Given the description of an element on the screen output the (x, y) to click on. 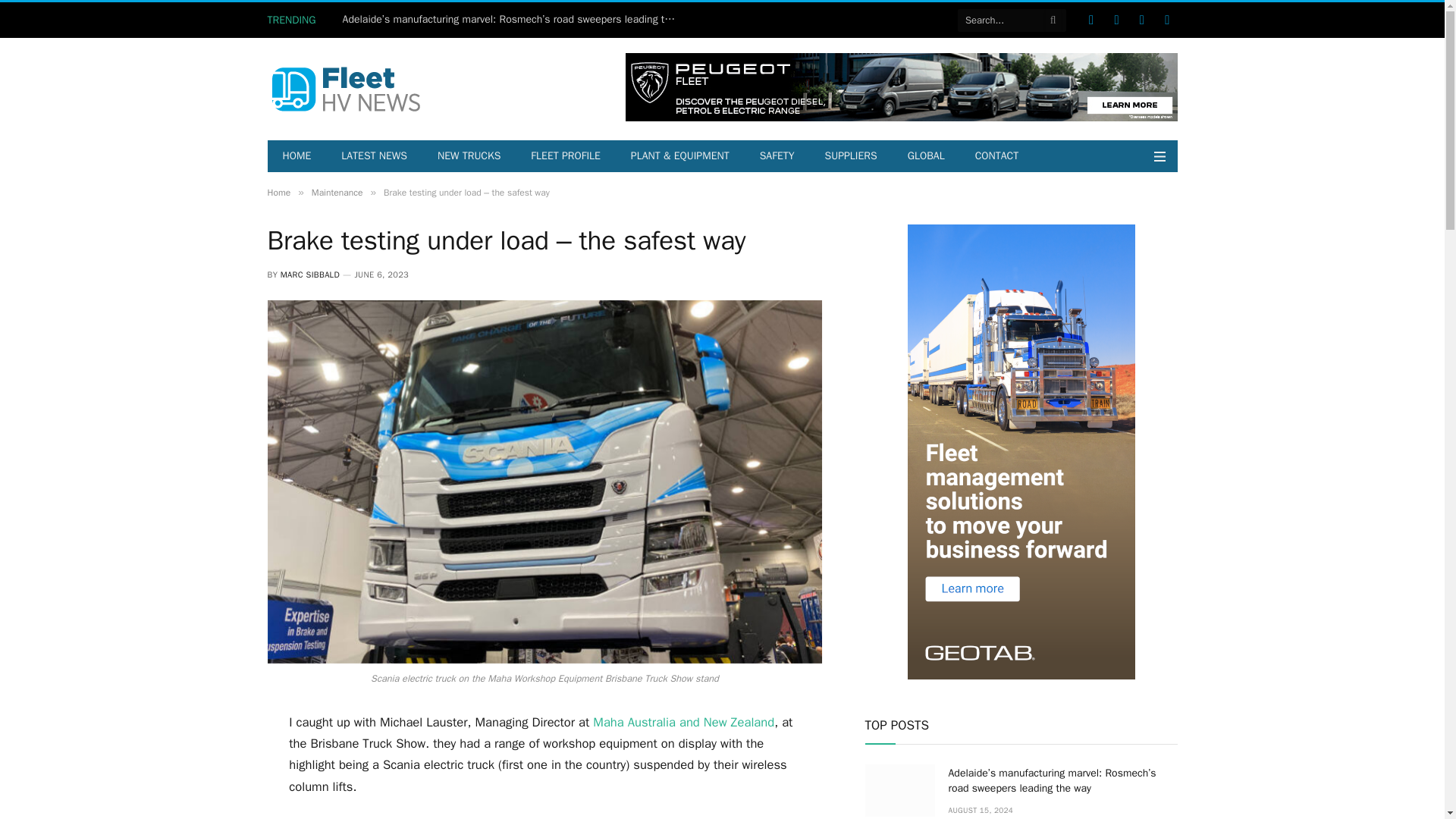
LATEST NEWS (374, 155)
NEW TRUCKS (468, 155)
FLEET PROFILE (565, 155)
Home (277, 192)
Fleet HV News (344, 89)
Posts by Marc Sibbald (310, 274)
HOME (296, 155)
CONTACT (996, 155)
SAFETY (776, 155)
GLOBAL (925, 155)
